Given the description of an element on the screen output the (x, y) to click on. 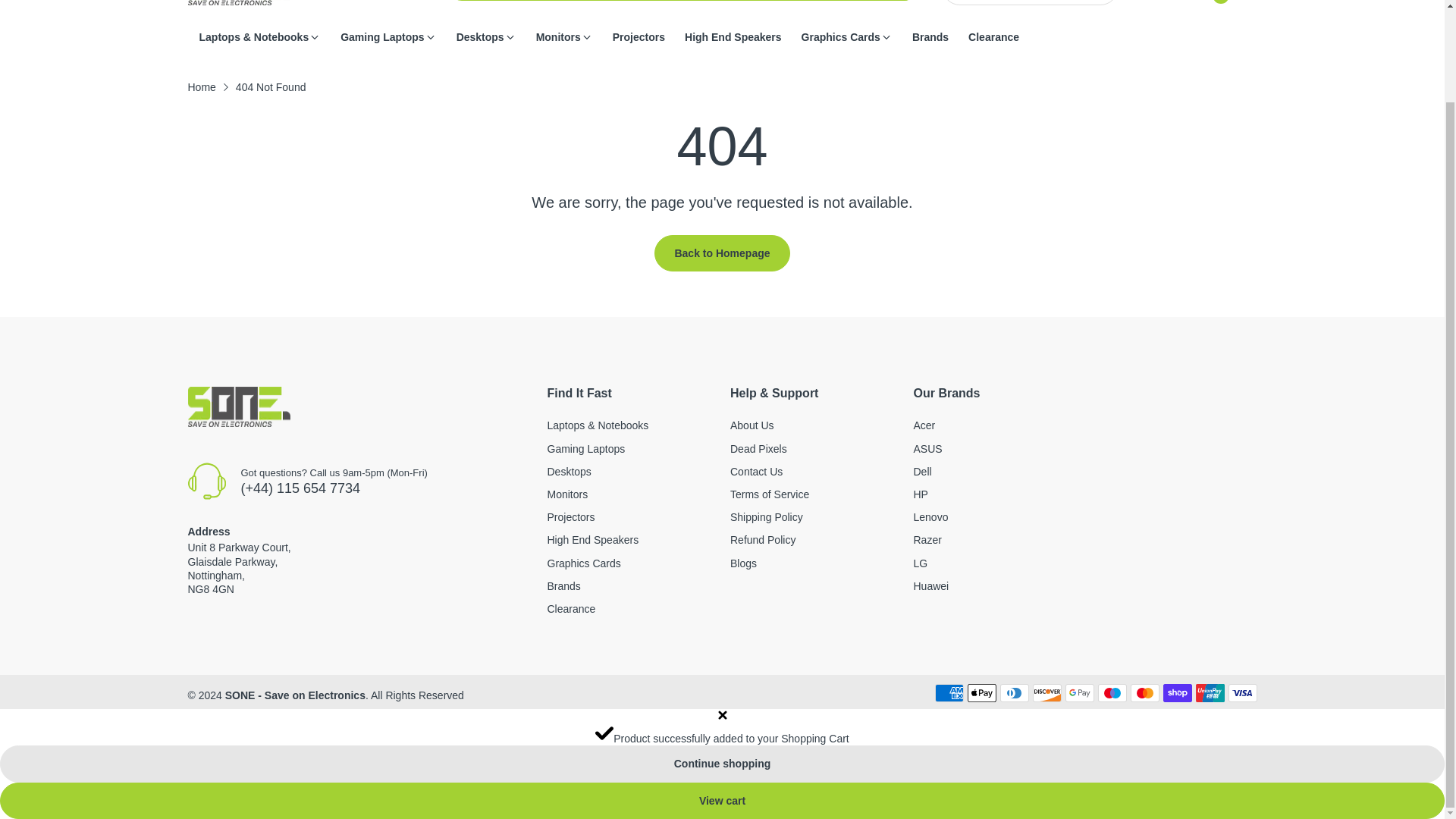
Refund Policy (762, 539)
Graphics Cards (584, 563)
Clearance (571, 608)
Brands (930, 37)
High End Speakers (732, 37)
Monitors (557, 37)
Back to Homepage (721, 253)
Graphics Cards (841, 37)
Home (201, 87)
Gaming Laptops (381, 37)
About Us (752, 425)
Blogs (743, 563)
Brands (563, 585)
High End Speakers (593, 539)
Projectors (571, 517)
